Given the description of an element on the screen output the (x, y) to click on. 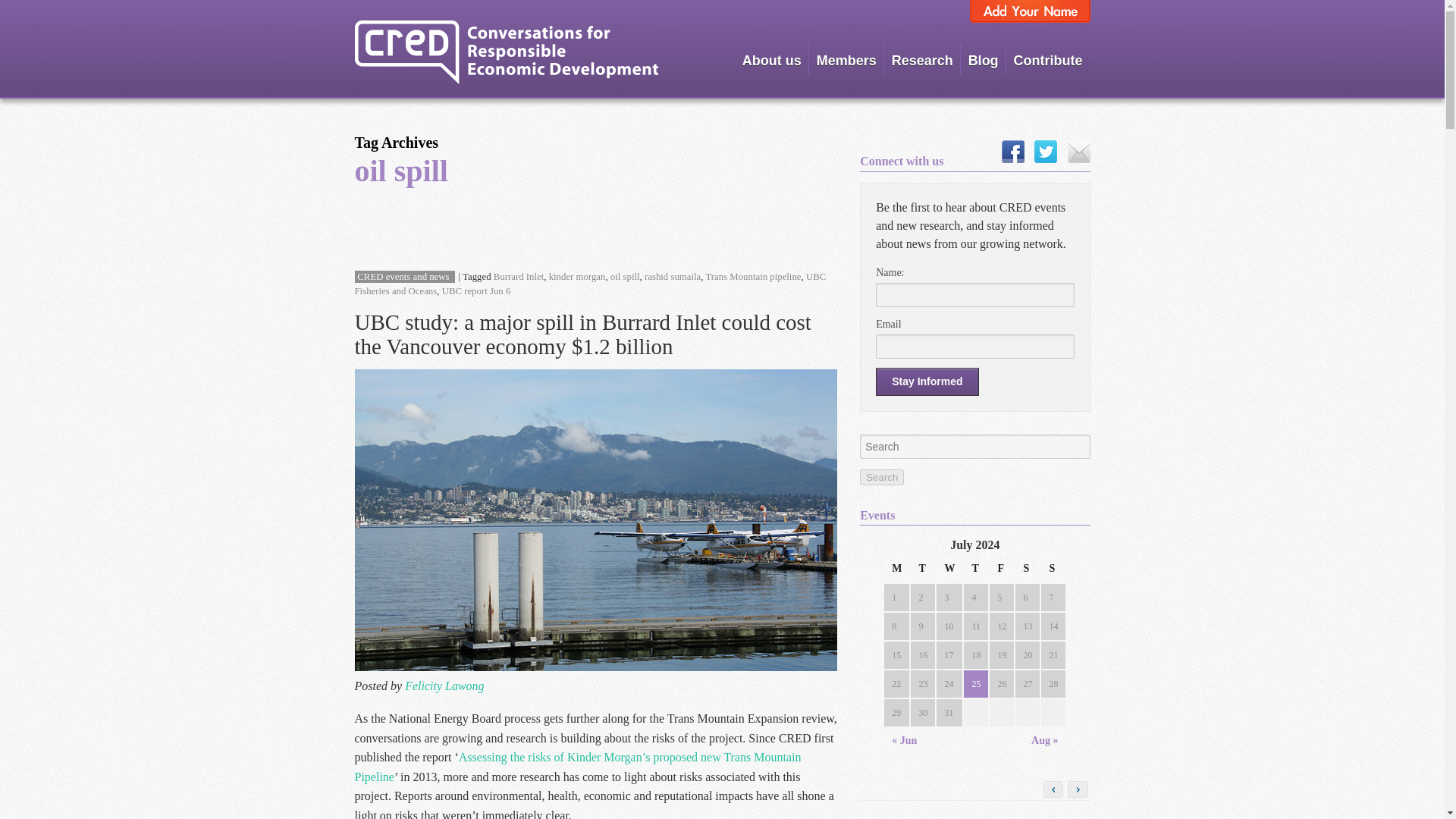
Burrard Inlet (518, 276)
kinder morgan (576, 276)
oil spill (625, 276)
View all posts in CRED events and news (402, 276)
Felicity Lawong (443, 685)
Research (921, 59)
Trans Mountain pipeline (752, 276)
CRED events and news (402, 276)
Jun 6 (500, 290)
Conversations for Responsible Economic Development (506, 52)
Skip to primary content (806, 52)
Contribute (1048, 59)
UBC Fisheries and Oceans (591, 283)
rashid sumaila (672, 276)
Members (845, 59)
